Given the description of an element on the screen output the (x, y) to click on. 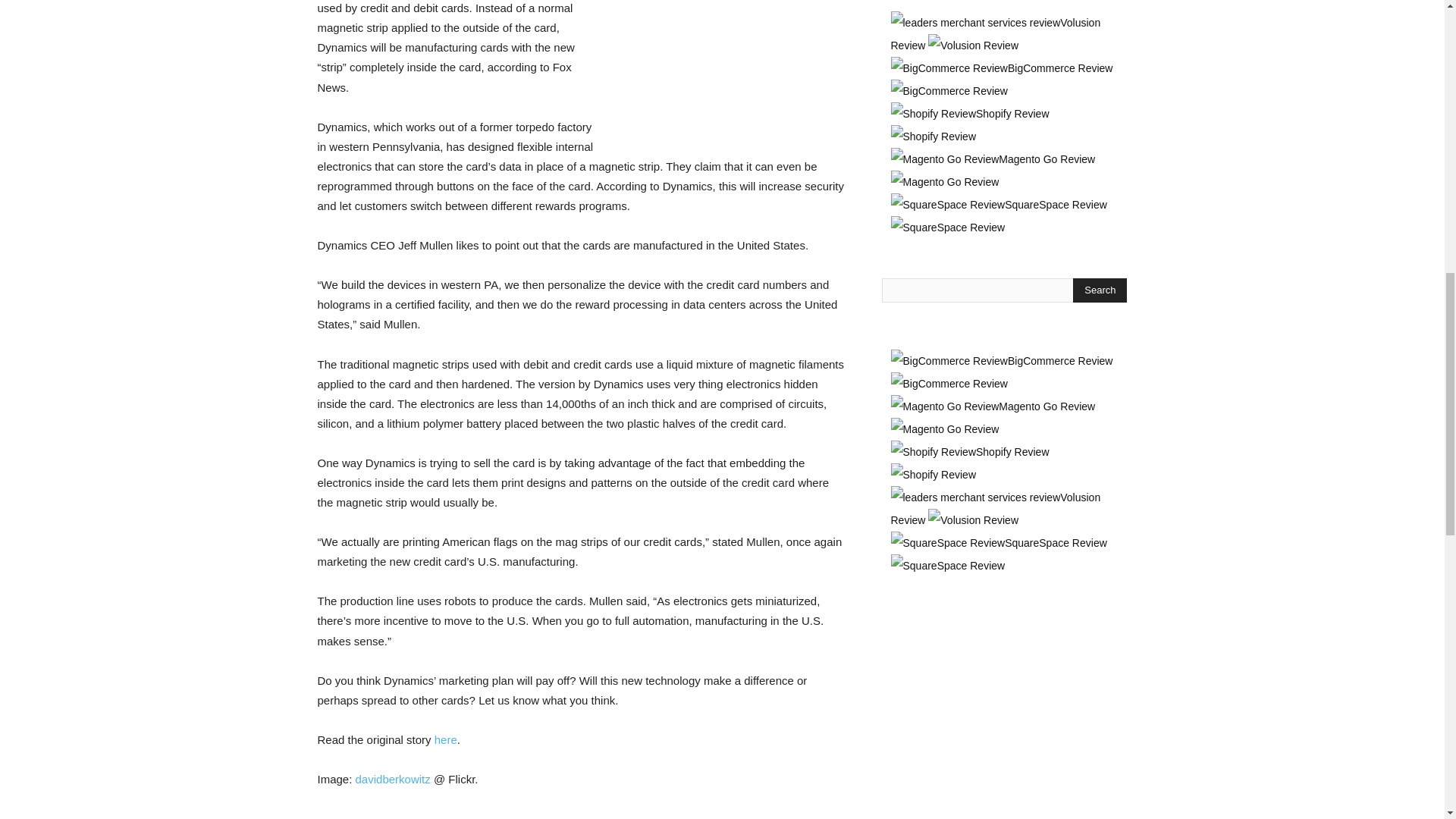
here (445, 739)
davidberkowitz (392, 779)
Search (1099, 290)
